Given the description of an element on the screen output the (x, y) to click on. 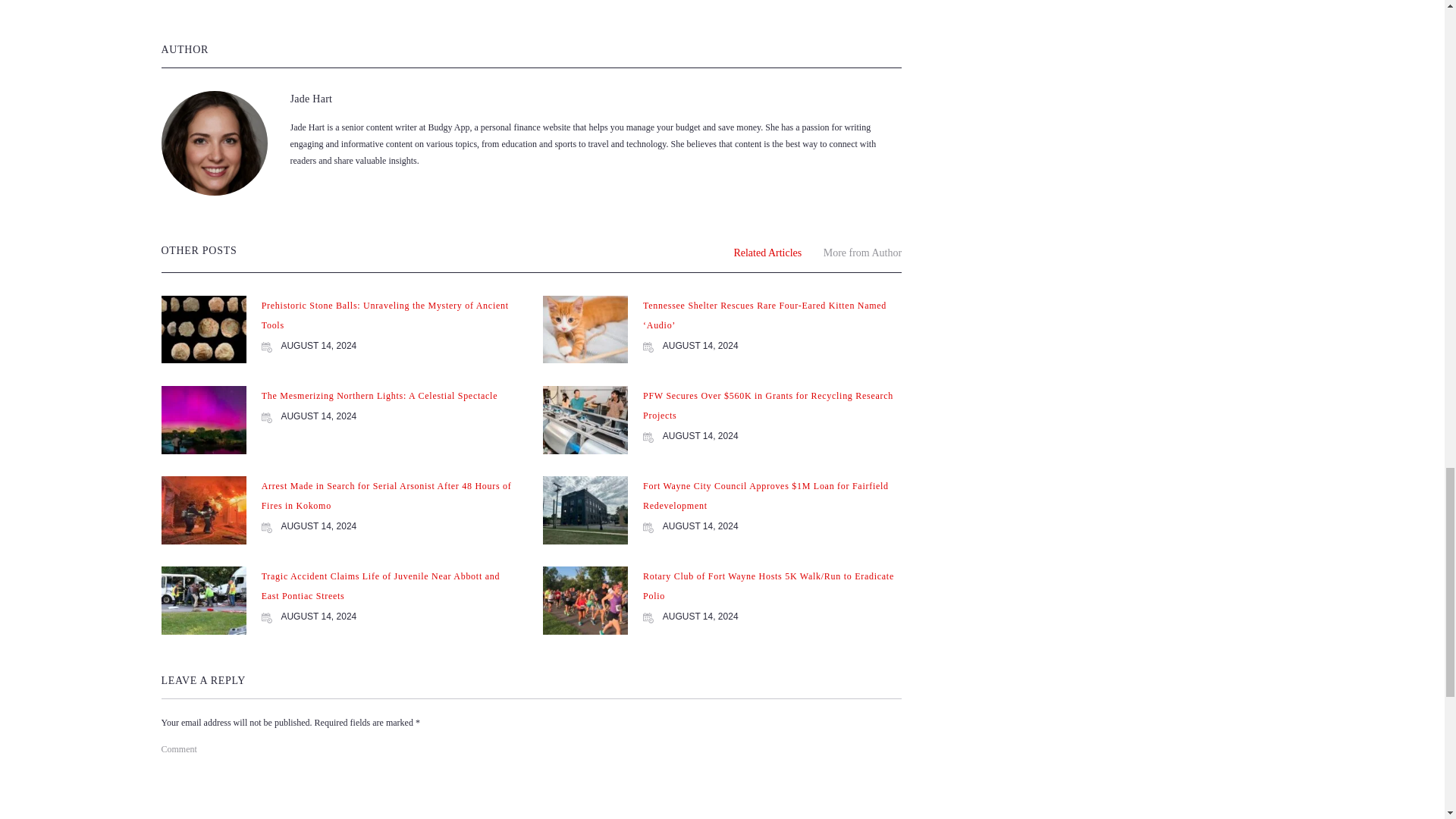
Jade Hart (310, 98)
Posts by Jade Hart (310, 98)
The Mesmerizing Northern Lights: A Celestial Spectacle (379, 395)
